Given the description of an element on the screen output the (x, y) to click on. 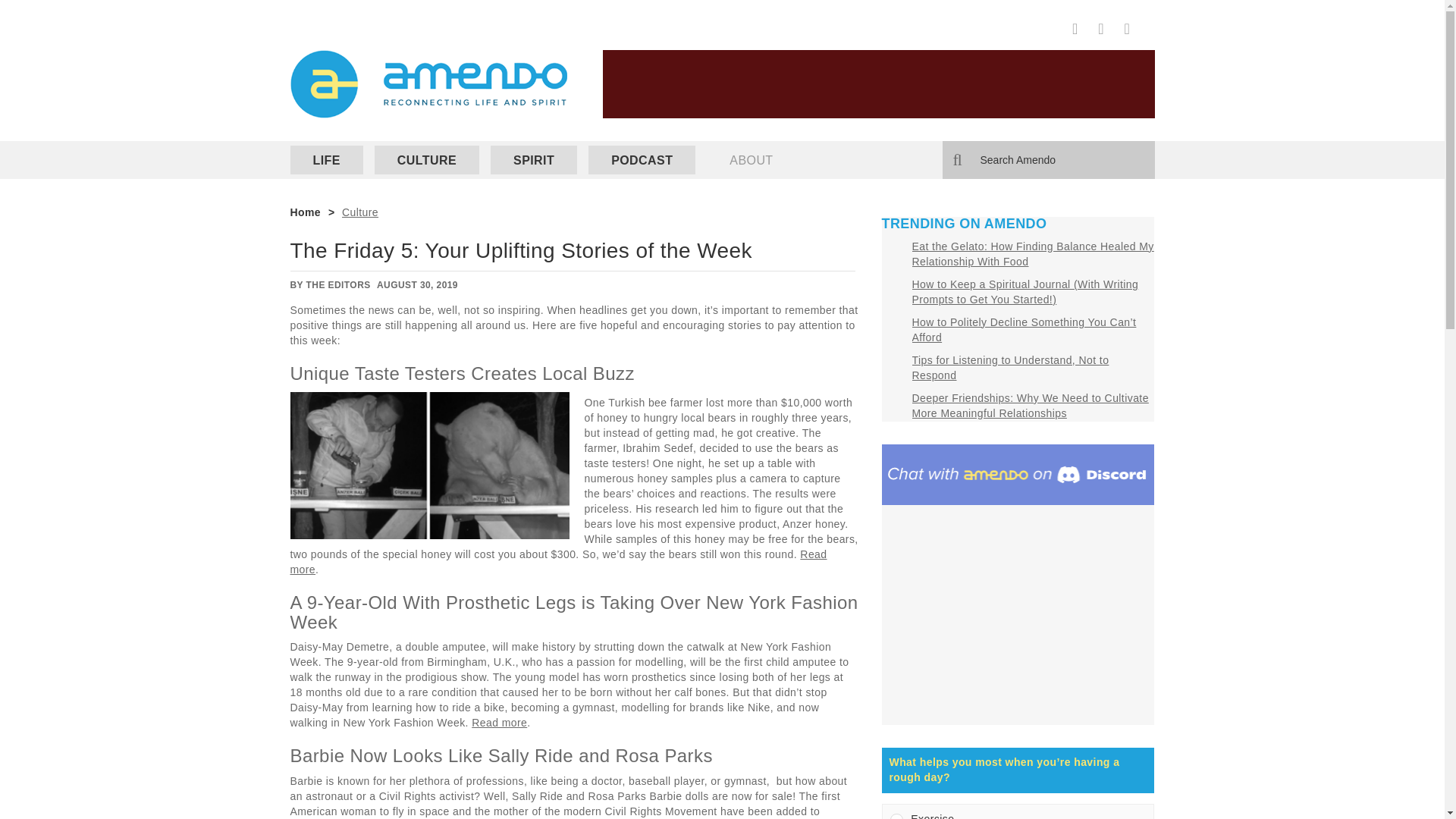
Home (304, 212)
ABOUT (750, 159)
Read more (558, 561)
Tips for Listening to Understand, Not to Respond (1009, 367)
PODCAST (641, 159)
CULTURE (426, 159)
Search for: (1048, 159)
SPIRIT (533, 159)
